Given the description of an element on the screen output the (x, y) to click on. 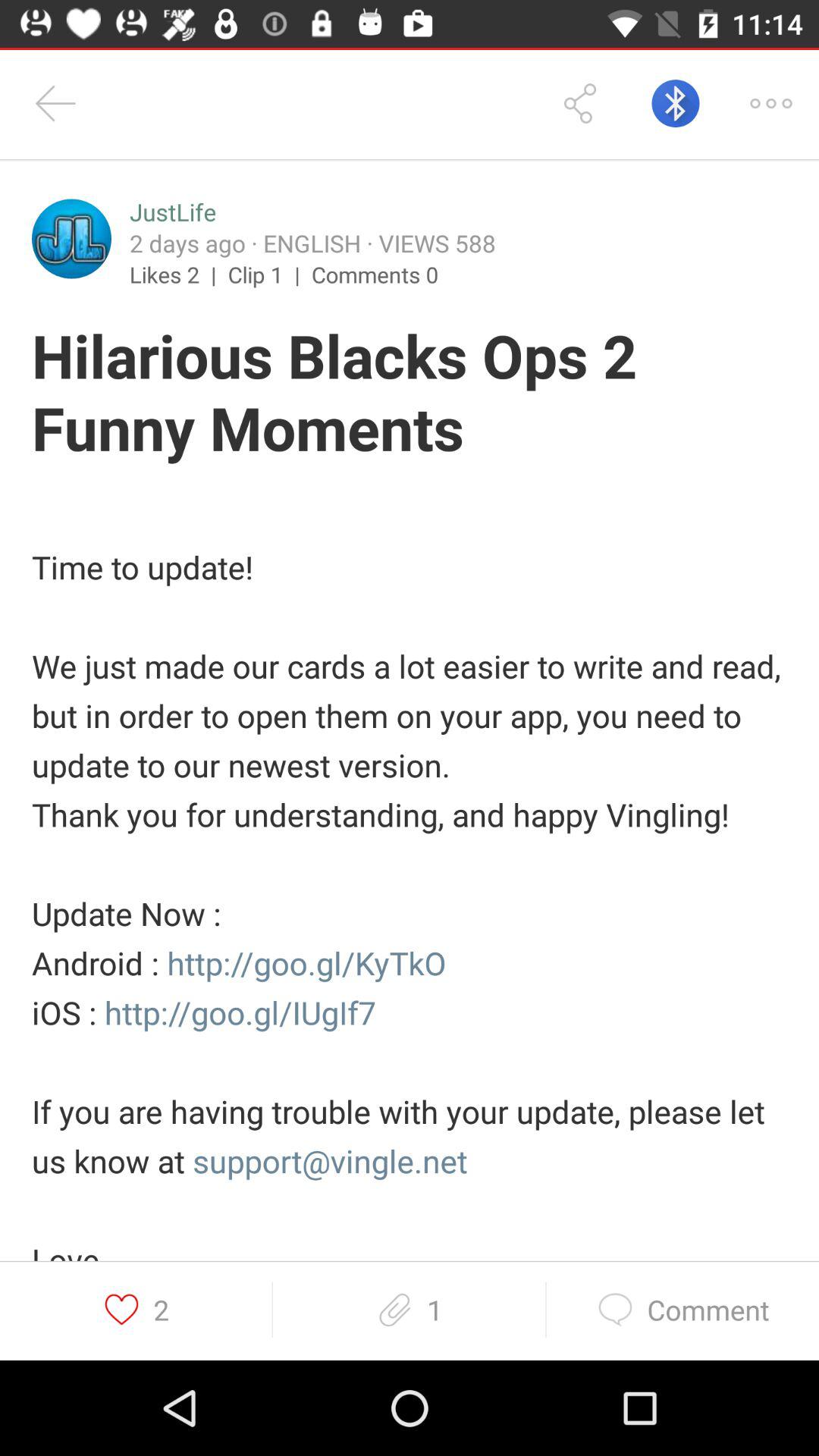
scroll to the time to update (409, 877)
